Given the description of an element on the screen output the (x, y) to click on. 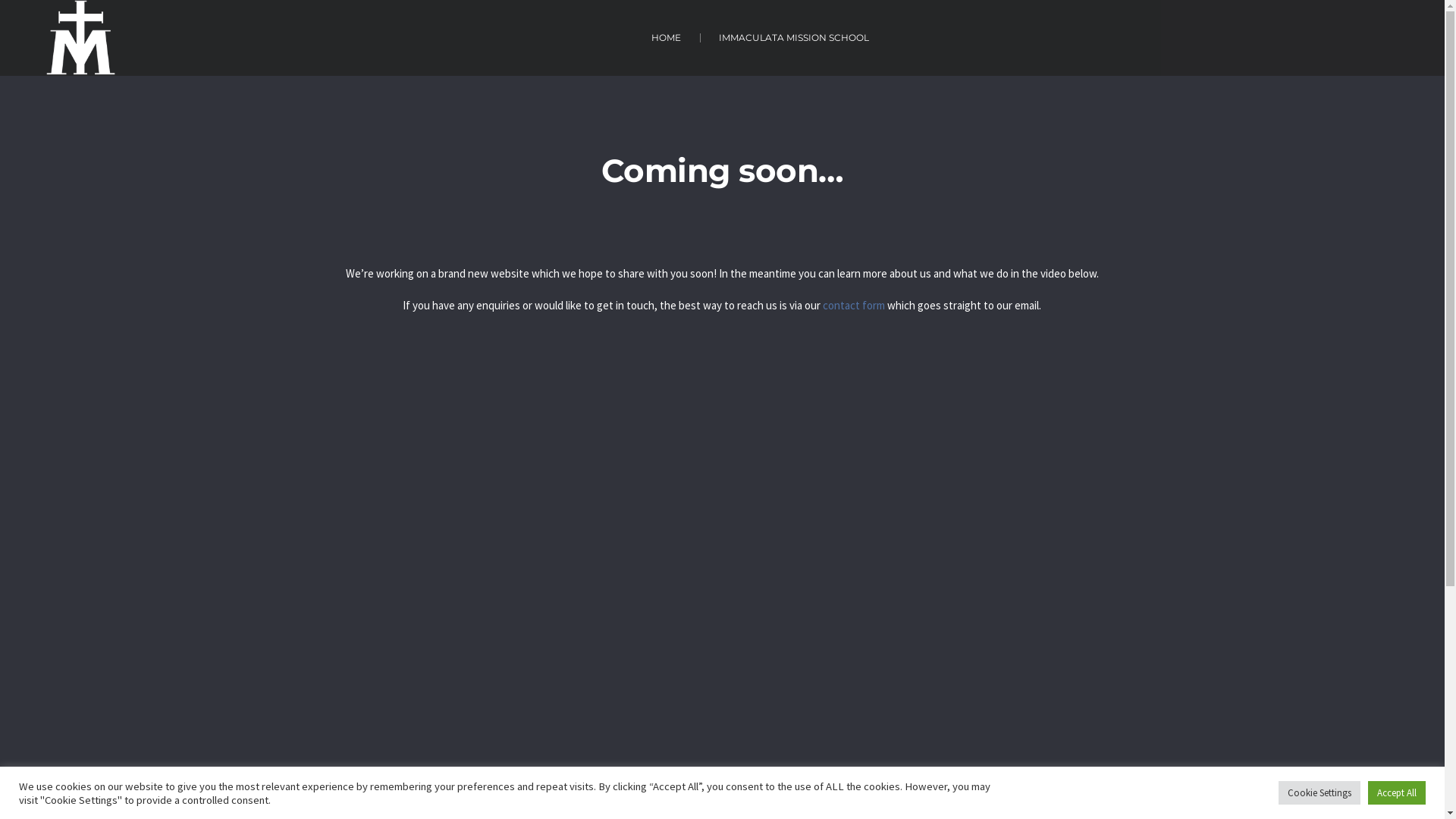
IMMACULATA MISSION SCHOOL Element type: text (793, 37)
Accept All Element type: text (1396, 792)
Cookie Settings Element type: text (1319, 792)
contact form Element type: text (853, 305)
HOME Element type: text (665, 37)
